Given the description of an element on the screen output the (x, y) to click on. 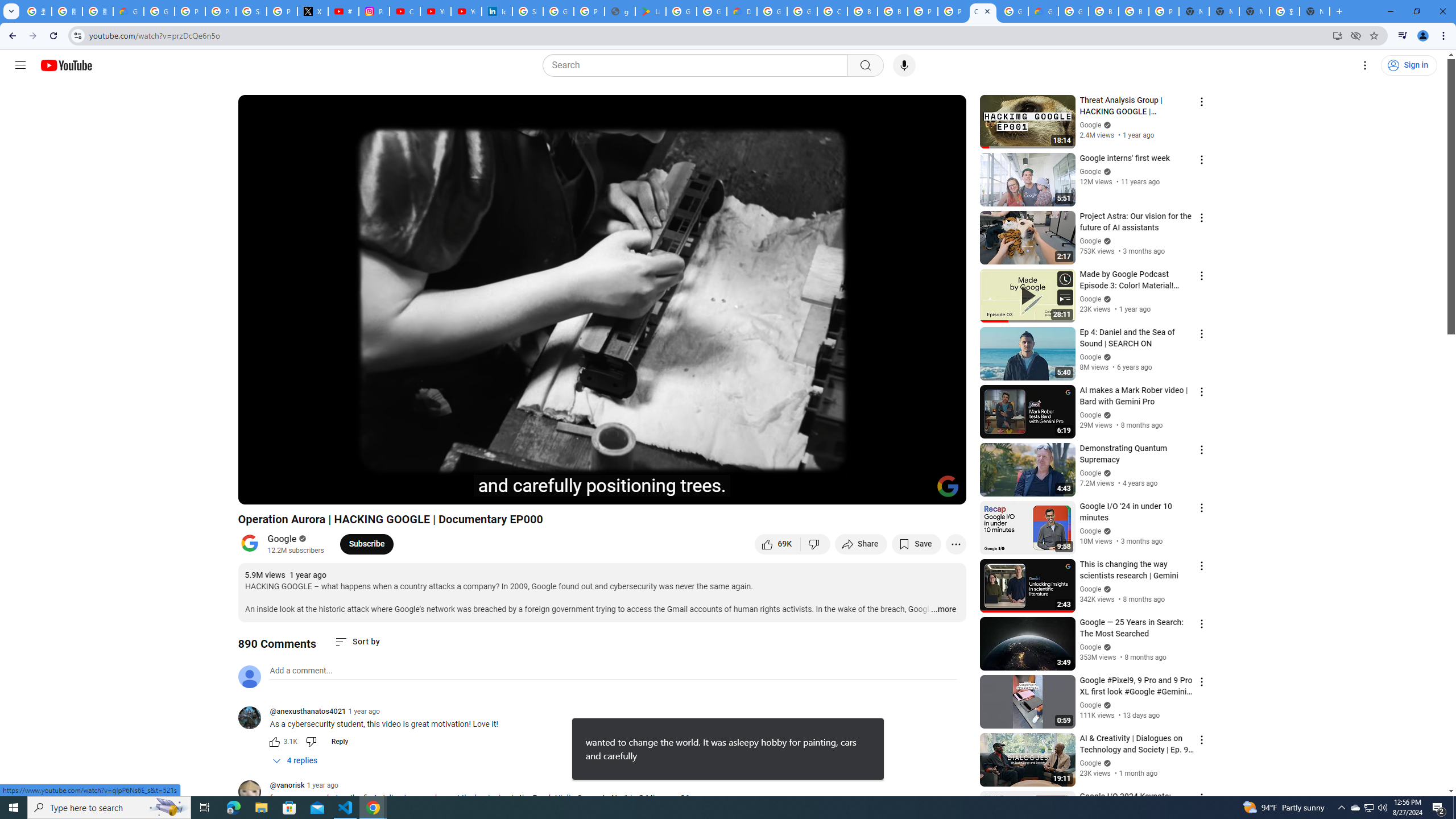
Share (861, 543)
Dislike this comment (310, 741)
